Given the description of an element on the screen output the (x, y) to click on. 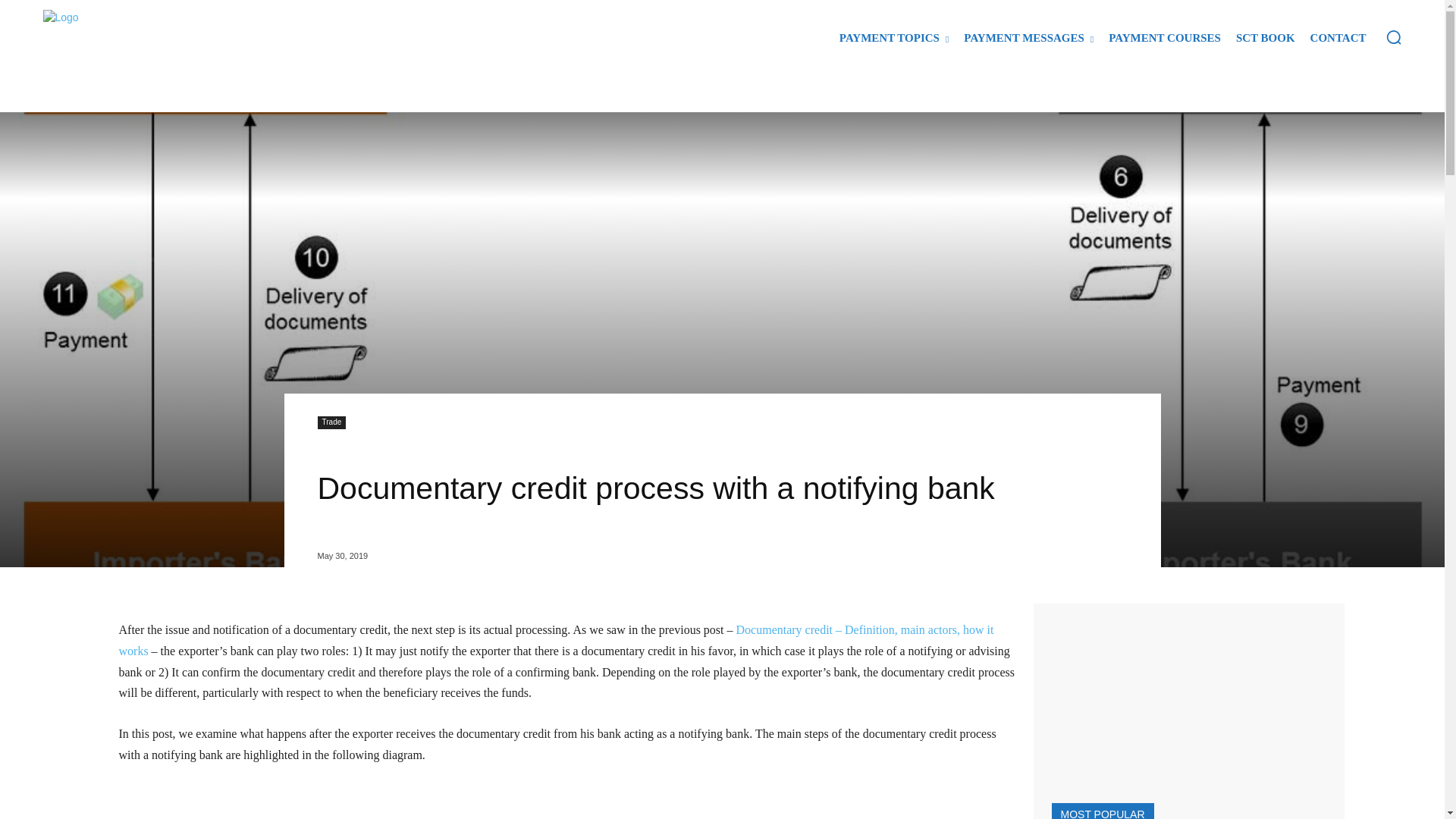
PAYMENT TOPICS (893, 38)
PAYMENT COURSES (1164, 38)
SCT BOOK (1265, 38)
CONTACT (1338, 38)
Trade (331, 422)
PAYMENT MESSAGES (1028, 38)
